Given the description of an element on the screen output the (x, y) to click on. 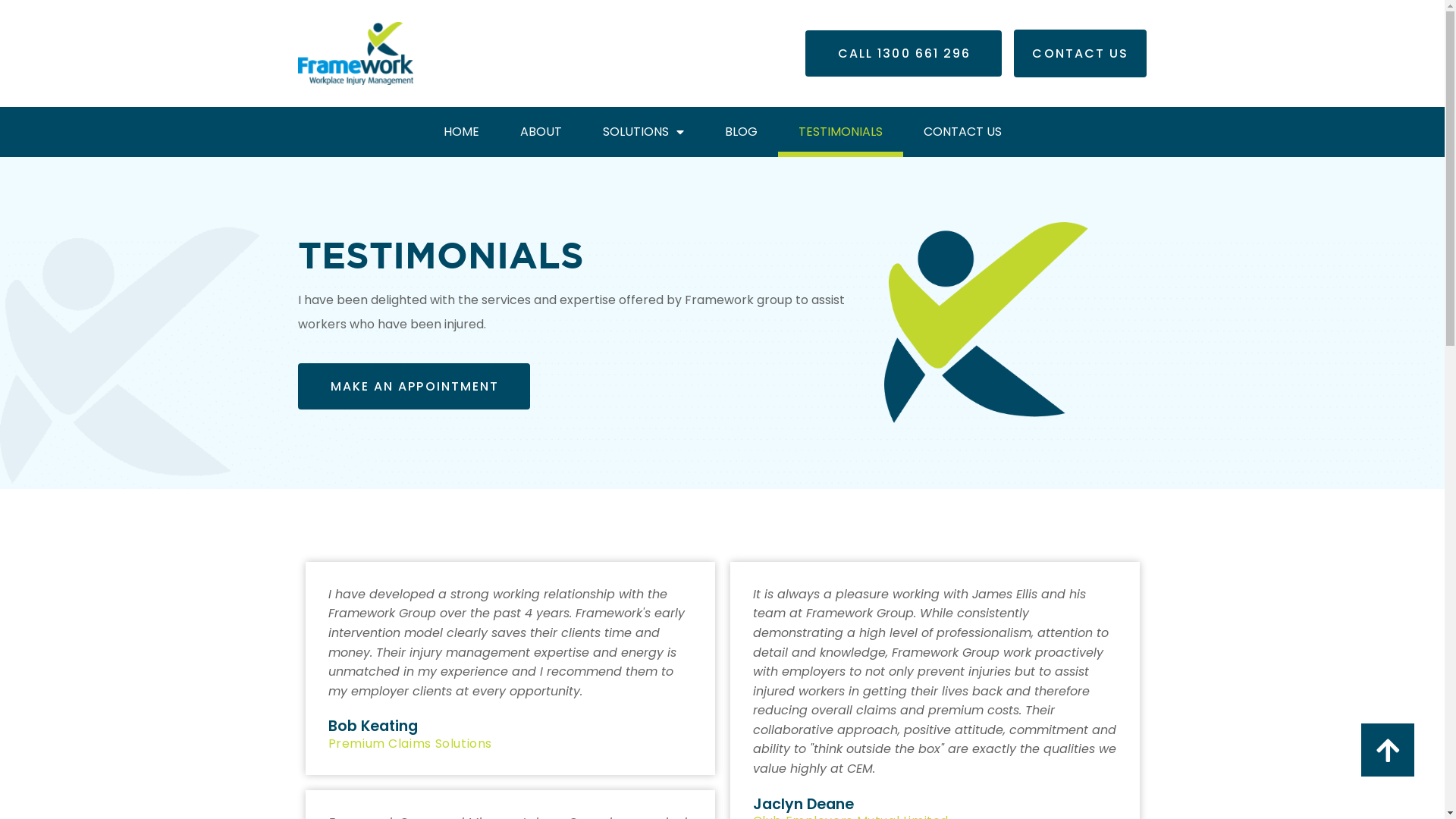
CONTACT US Element type: text (961, 131)
Testimonials - Testimonials,Framework Group Element type: hover (986, 322)
MAKE AN APPOINTMENT Element type: text (413, 386)
CALL 1300 661 296 Element type: text (903, 53)
BLOG Element type: text (740, 131)
ABOUT Element type: text (539, 131)
HOME Element type: text (461, 131)
TESTIMONIALS Element type: text (840, 131)
CONTACT US Element type: text (1079, 53)
SOLUTIONS Element type: text (643, 131)
